Given the description of an element on the screen output the (x, y) to click on. 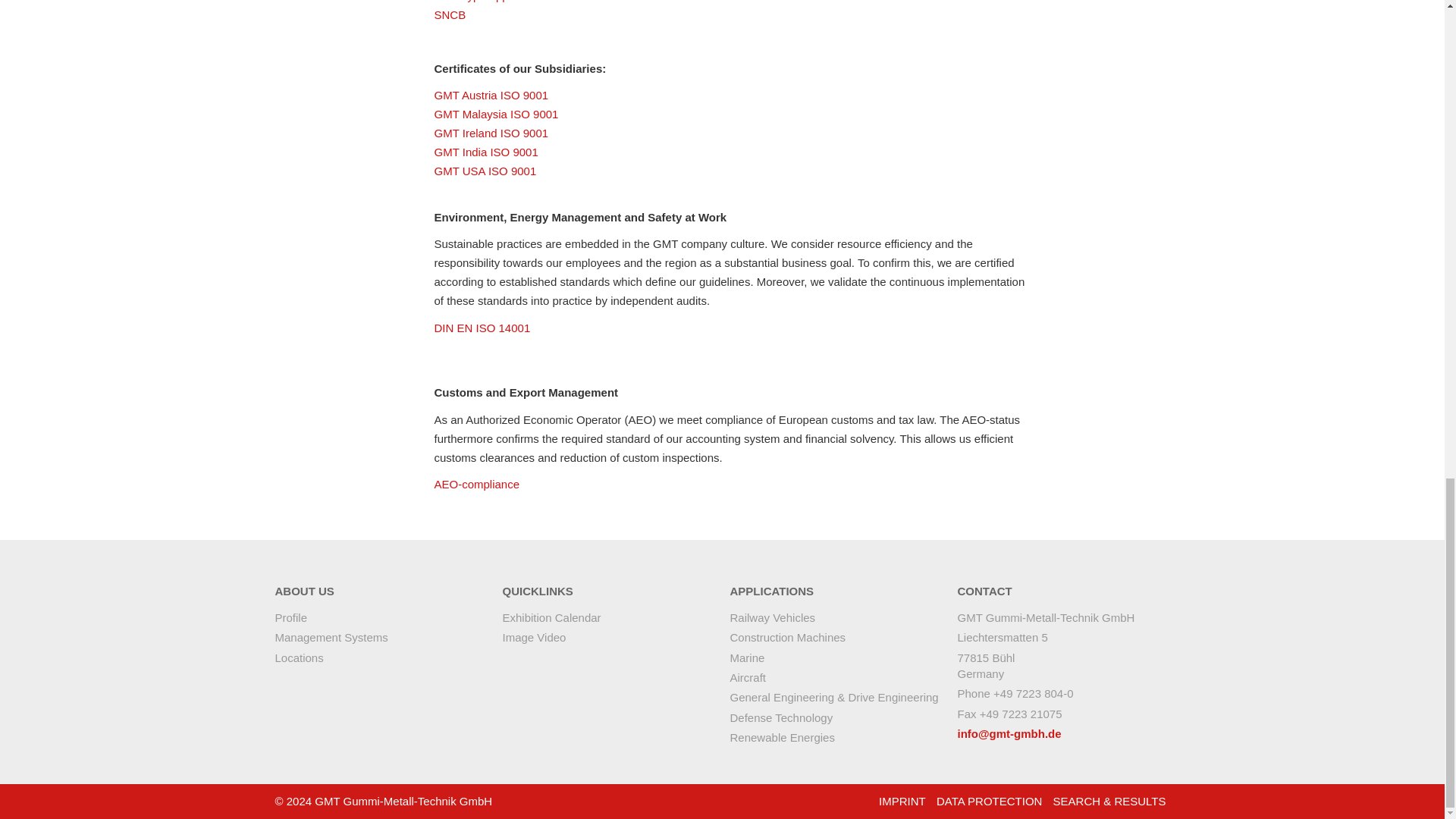
DNV Type Approval (482, 1)
GMT Austria ISO 9001 (490, 94)
SNCB (449, 14)
GMT Malaysia ISO 9001 (495, 113)
GMT Ireland ISO 9001 (490, 132)
